Given the description of an element on the screen output the (x, y) to click on. 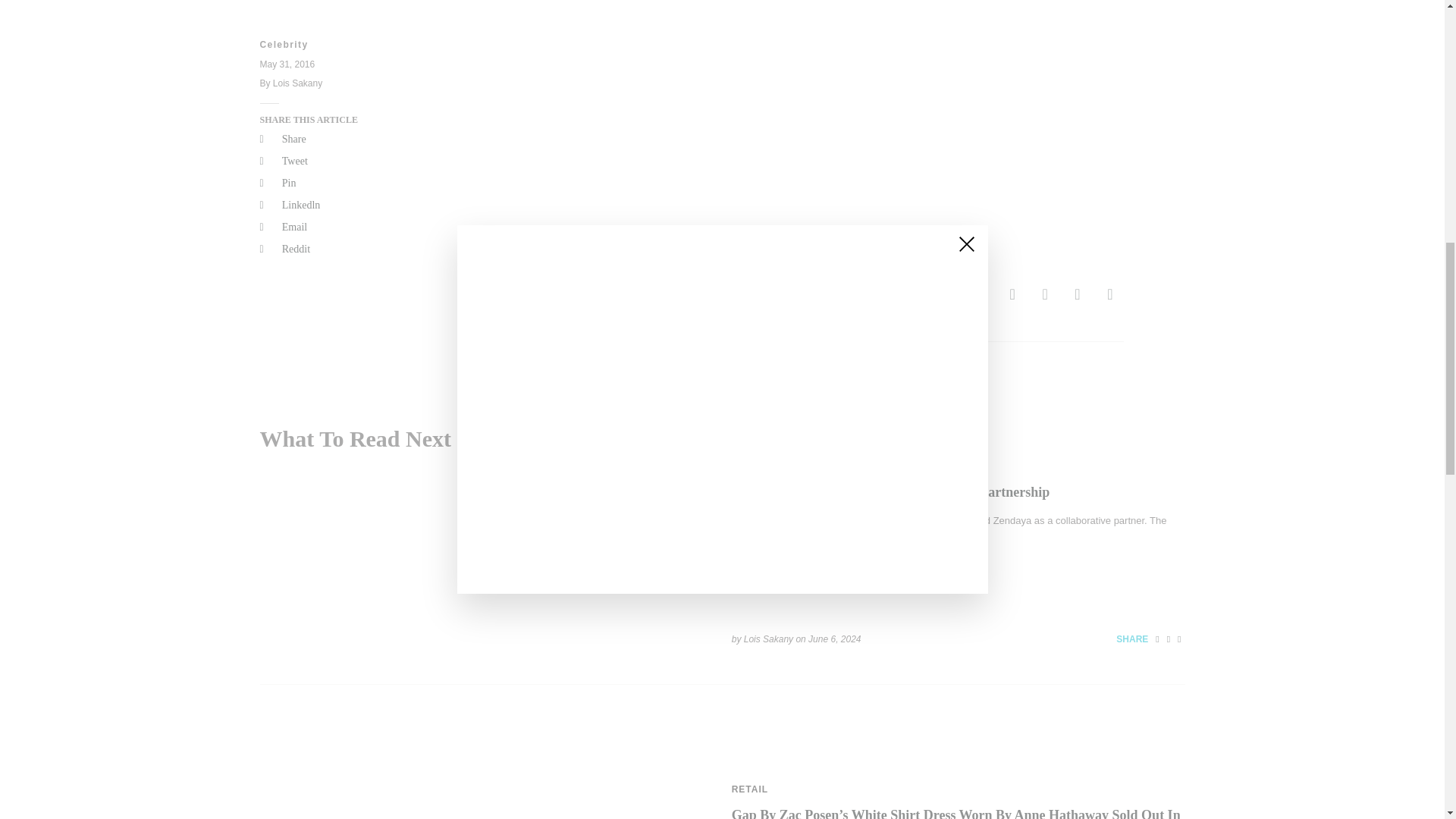
COLLABORATION (776, 466)
MUSIC (605, 300)
On And Zendaya Announce Collaborative Partnership (890, 491)
CELEBRITY (517, 300)
GWEN STEFANI (703, 300)
